Given the description of an element on the screen output the (x, y) to click on. 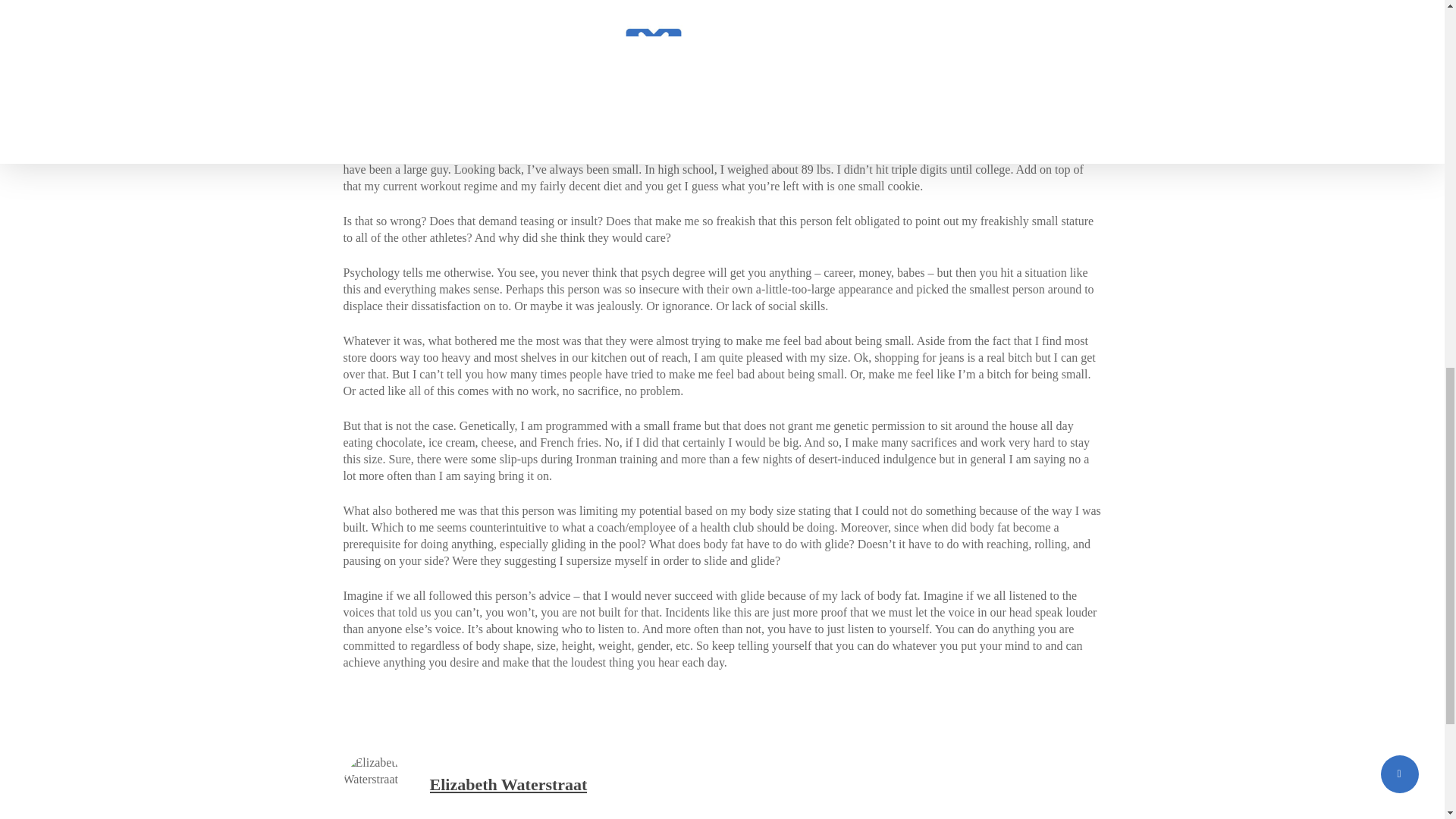
Elizabeth Waterstraat (507, 783)
